Given the description of an element on the screen output the (x, y) to click on. 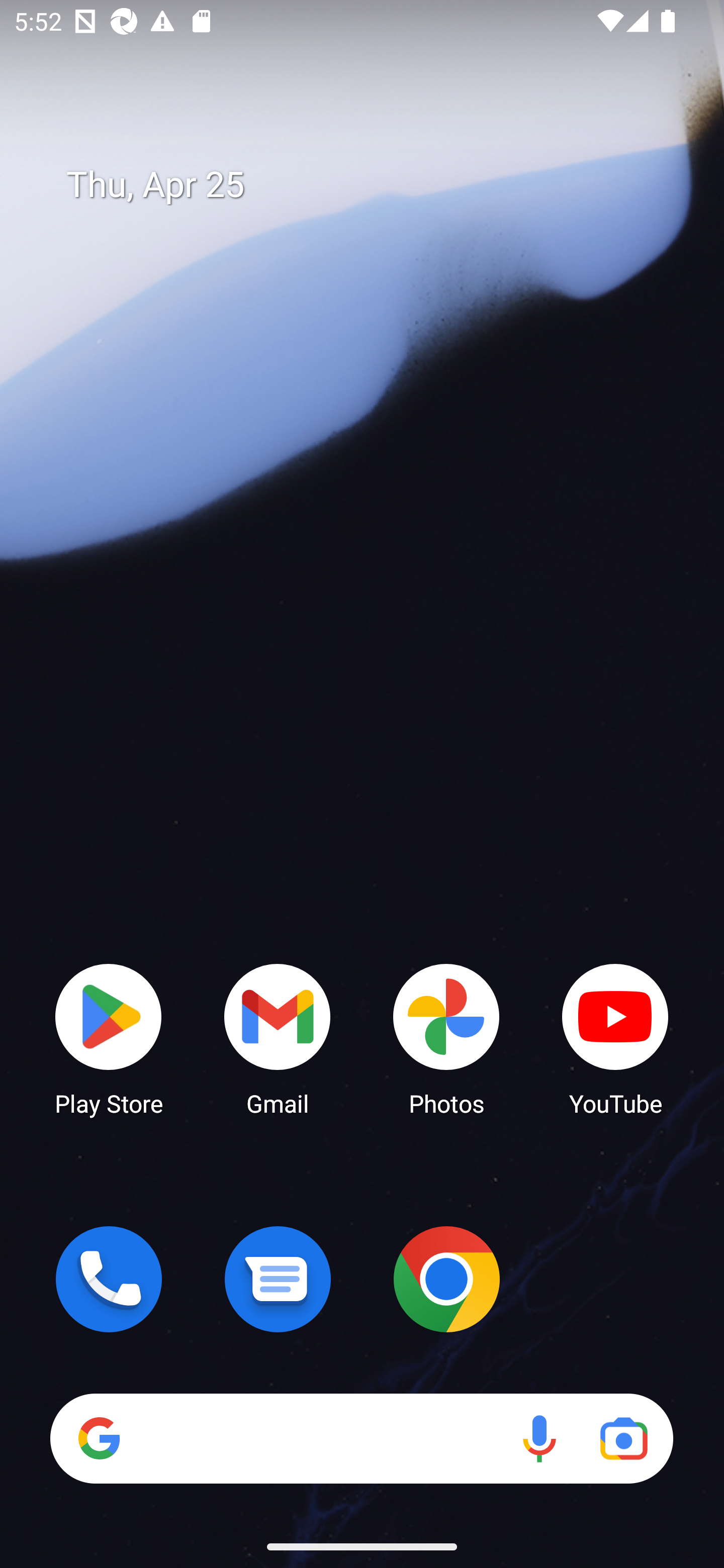
Thu, Apr 25 (375, 184)
Play Store (108, 1038)
Gmail (277, 1038)
Photos (445, 1038)
YouTube (615, 1038)
Phone (108, 1279)
Messages (277, 1279)
Chrome (446, 1279)
Search Voice search Google Lens (361, 1438)
Voice search (539, 1438)
Google Lens (623, 1438)
